Given the description of an element on the screen output the (x, y) to click on. 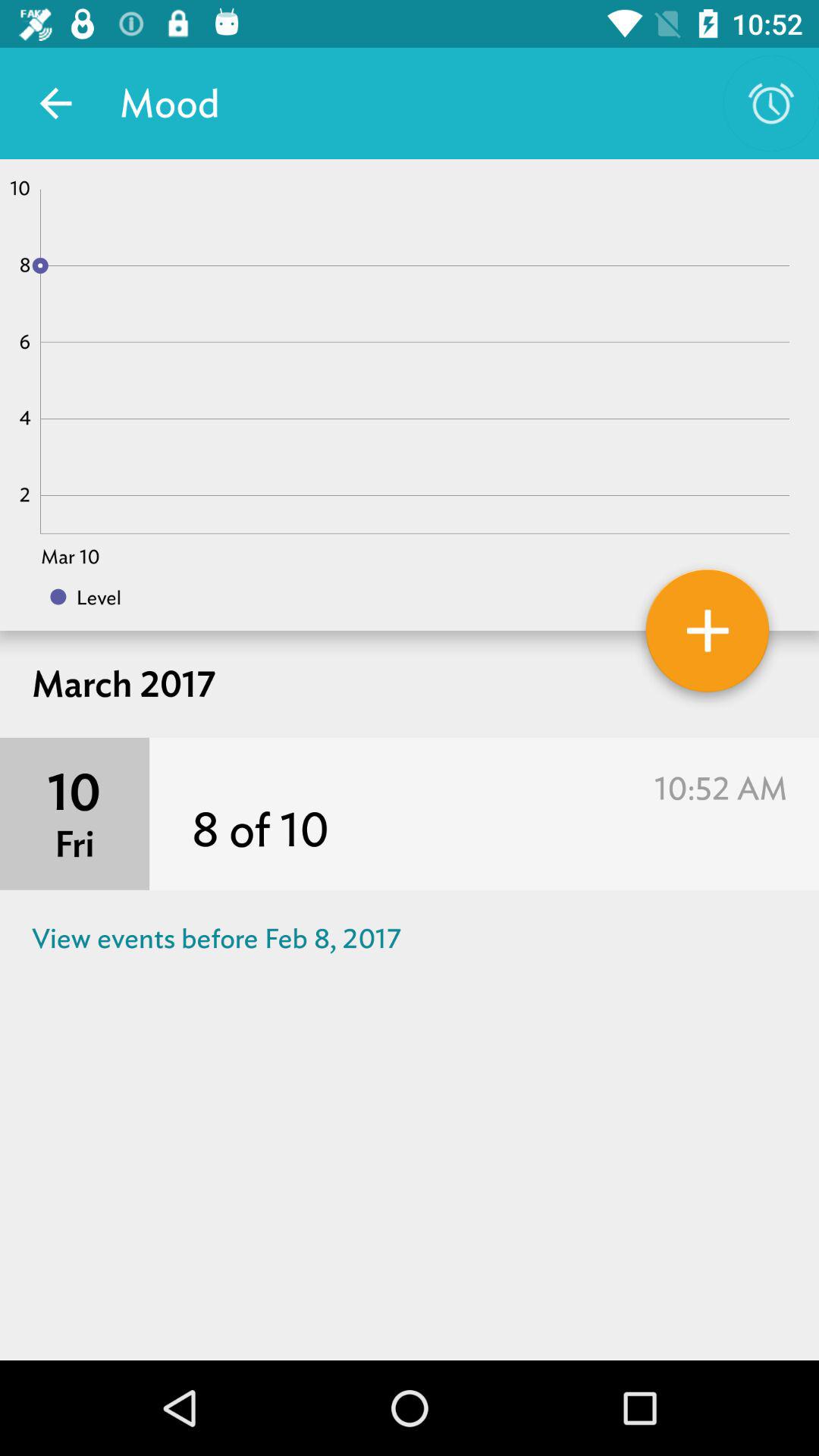
add another item (707, 636)
